Given the description of an element on the screen output the (x, y) to click on. 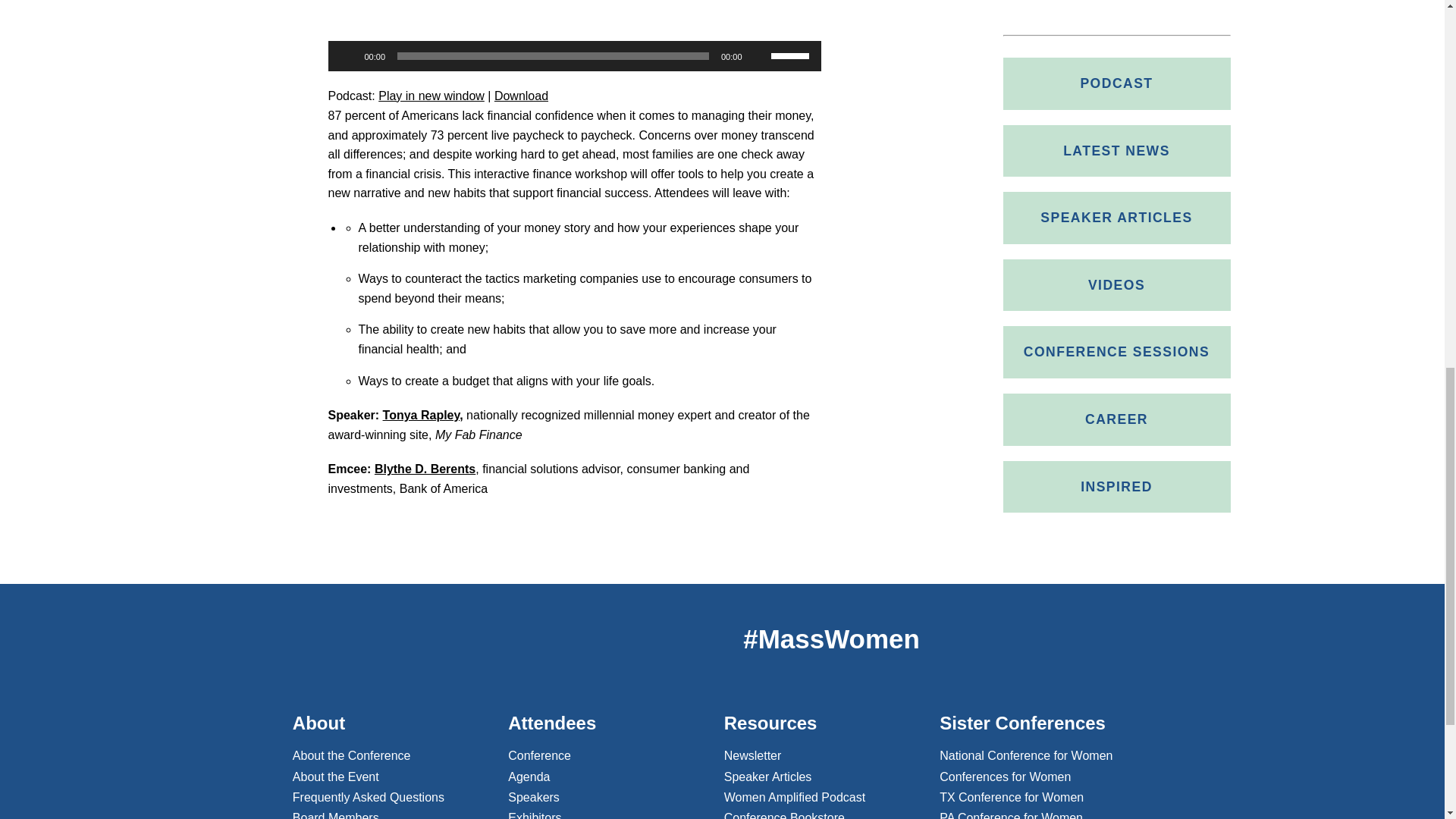
Download (521, 95)
Play (347, 55)
Mute (758, 55)
Play in new window (431, 95)
